Given the description of an element on the screen output the (x, y) to click on. 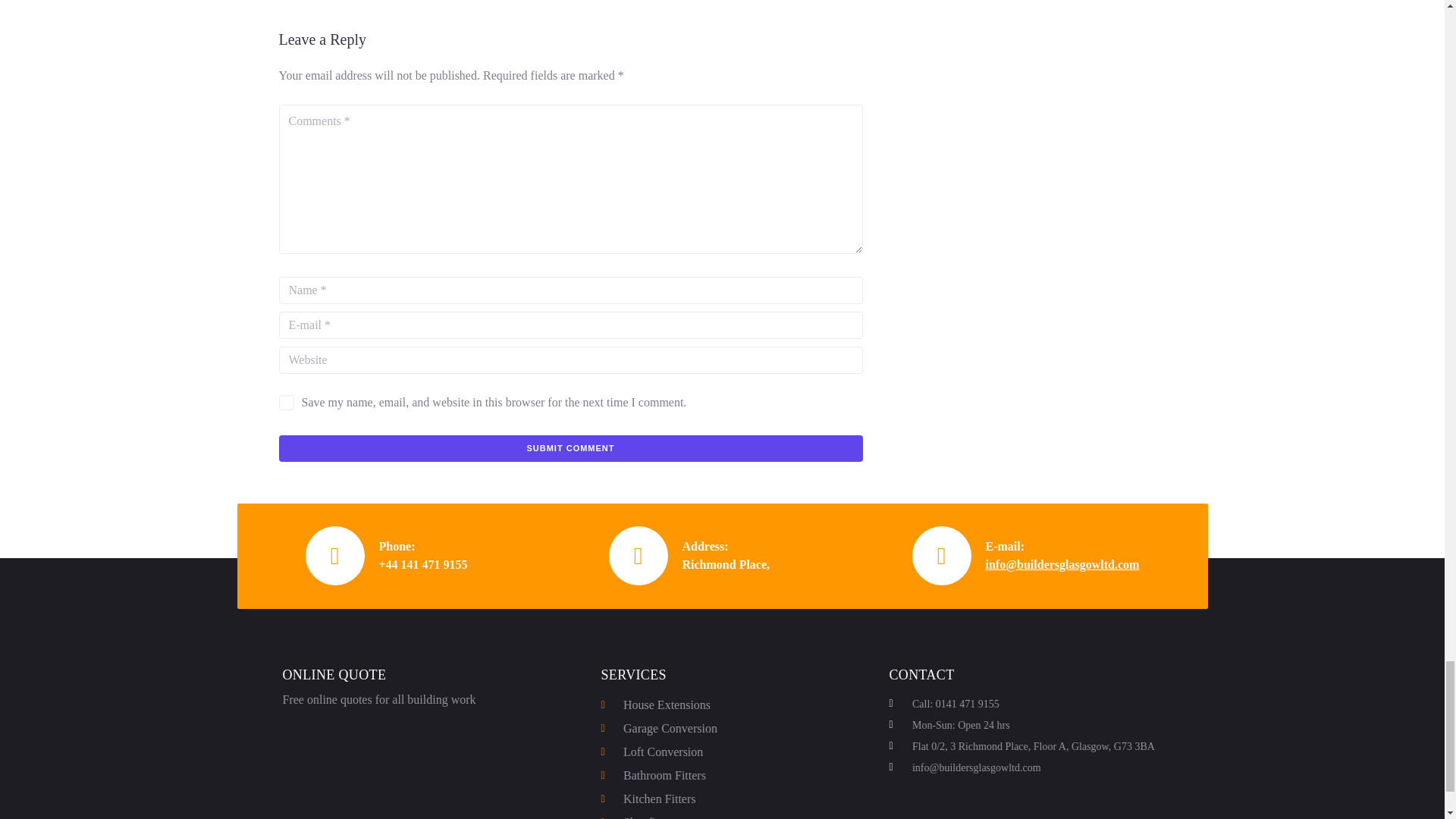
Submit Comment (571, 447)
Submit Comment (571, 447)
